Given the description of an element on the screen output the (x, y) to click on. 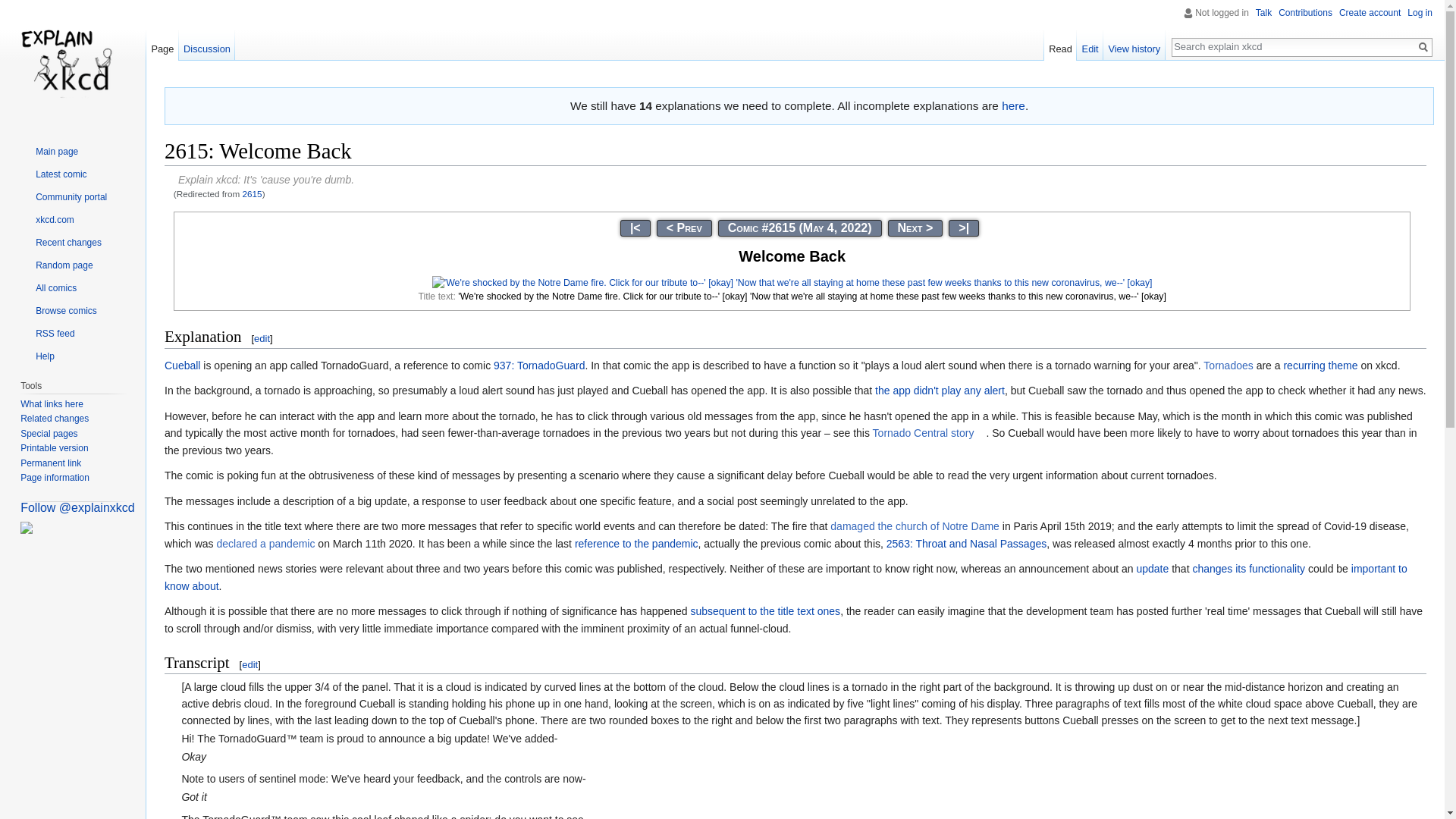
Search (1423, 46)
Tornado Central story (929, 432)
Cueball (182, 365)
2616 (915, 227)
937: TornadoGuard (539, 365)
here (1013, 105)
changes its functionality (1248, 568)
recurring theme (1319, 365)
Go (1423, 46)
Category:COVID-19 (636, 543)
edit (261, 337)
2964 (963, 227)
Search (1423, 46)
Go (1423, 46)
edit (249, 664)
